Given the description of an element on the screen output the (x, y) to click on. 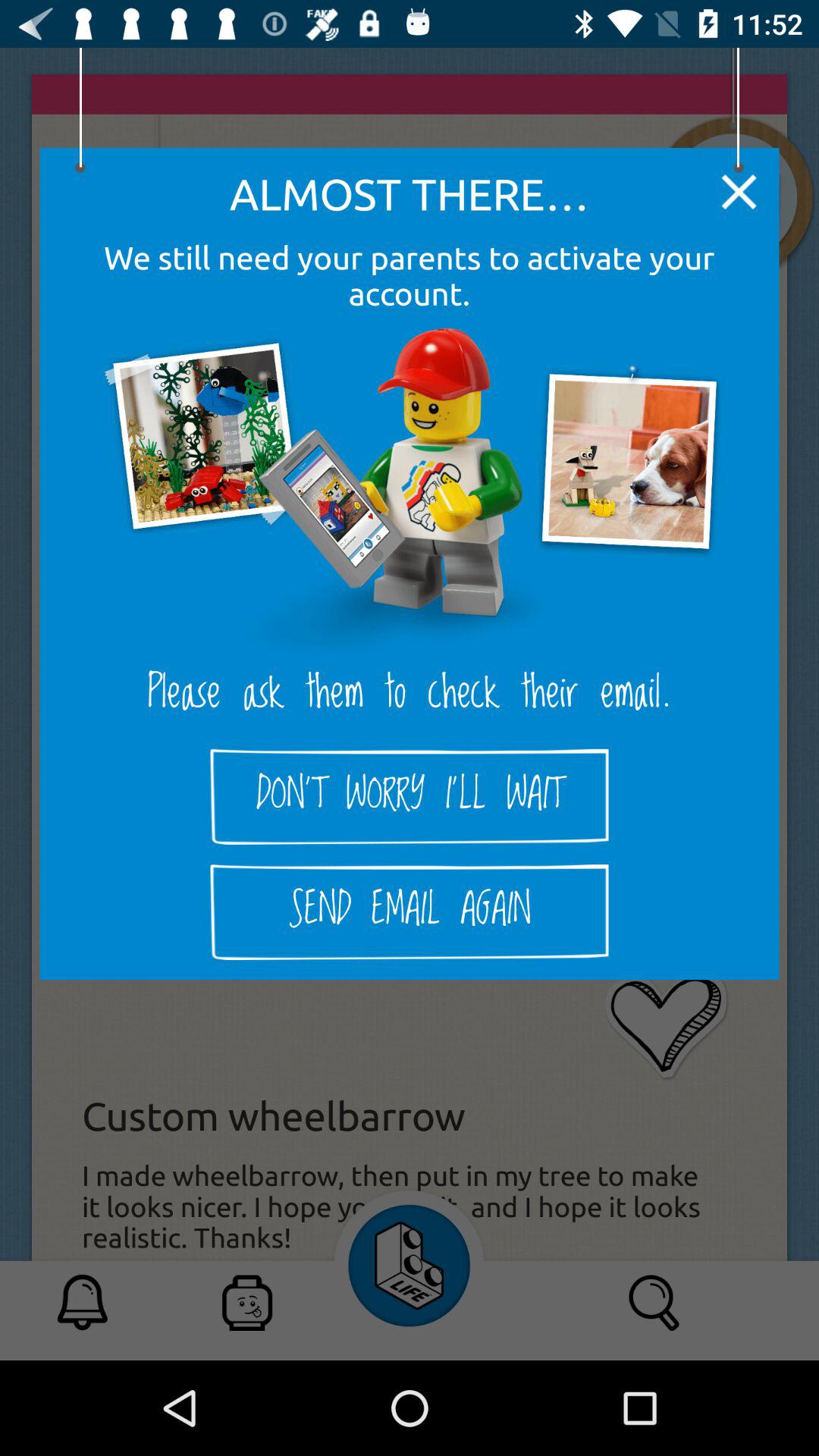
jump until don t worry (409, 796)
